Given the description of an element on the screen output the (x, y) to click on. 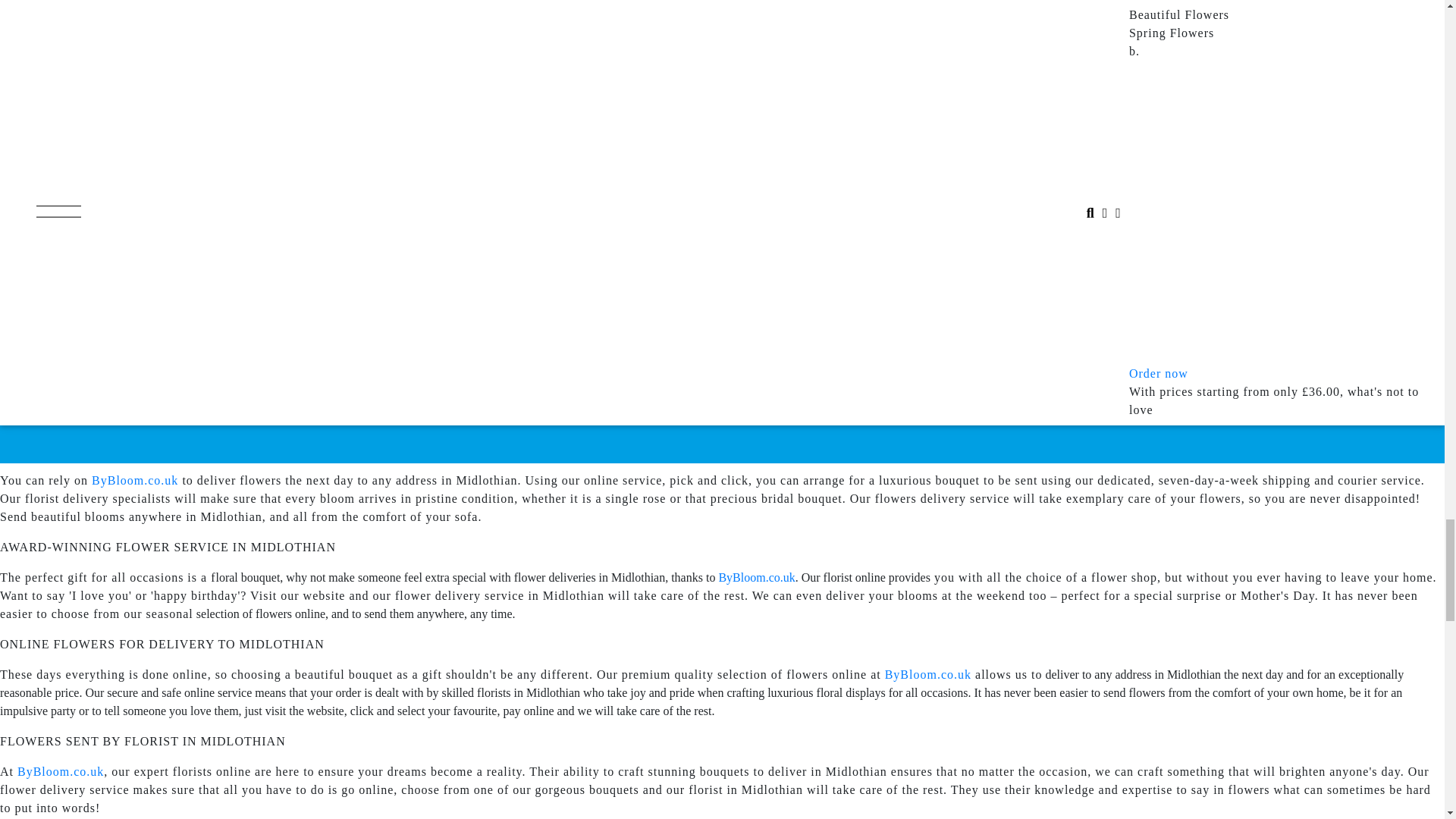
ByBloom.co.uk (755, 576)
ByBloom.co.uk (60, 771)
ByBloom.co.uk (134, 480)
ByBloom.co.uk (928, 674)
